Given the description of an element on the screen output the (x, y) to click on. 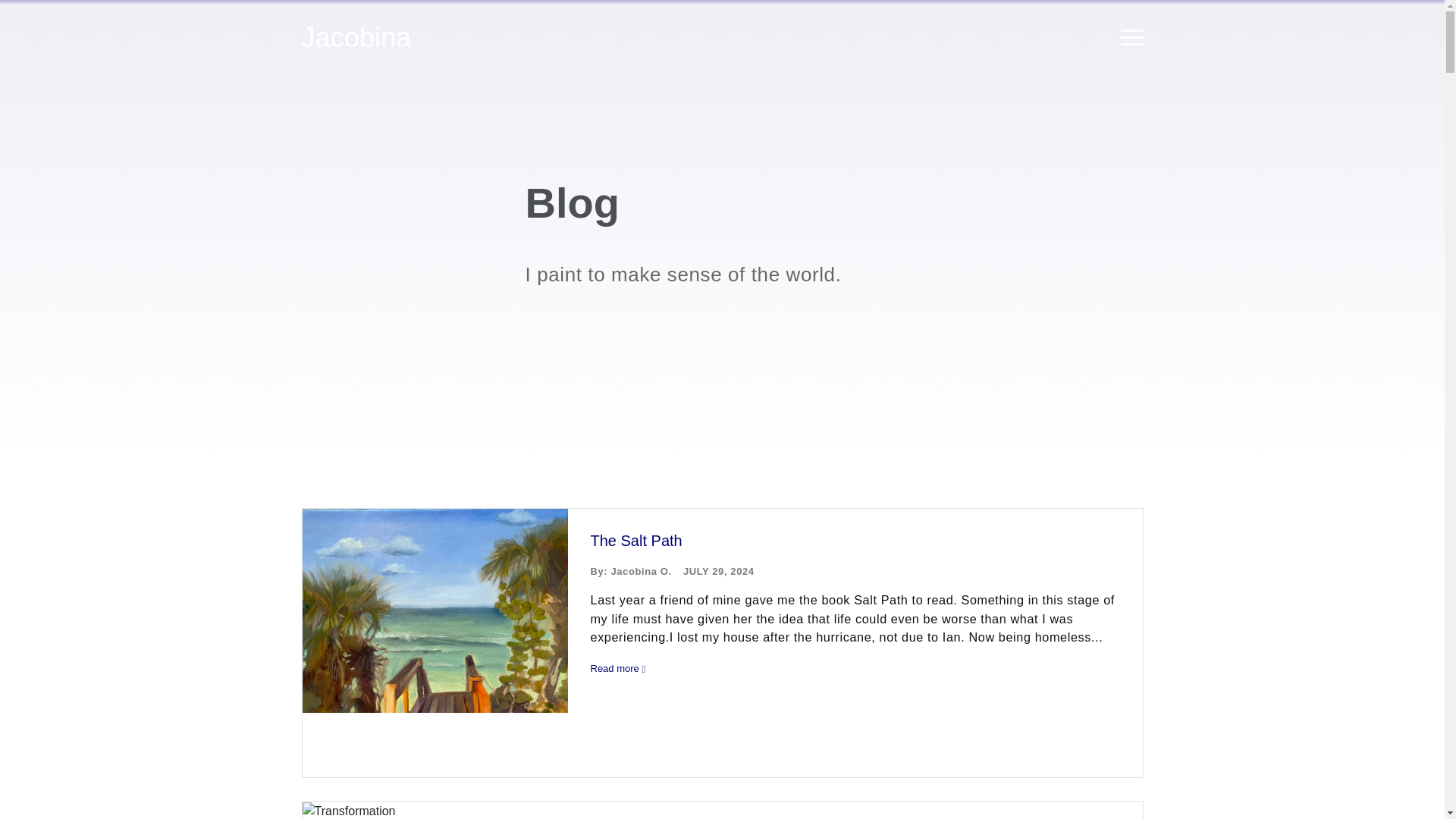
JULY 29, 2024 (718, 571)
Read more (857, 668)
By: Jacobina O. (630, 571)
Jacobina (356, 37)
